Given the description of an element on the screen output the (x, y) to click on. 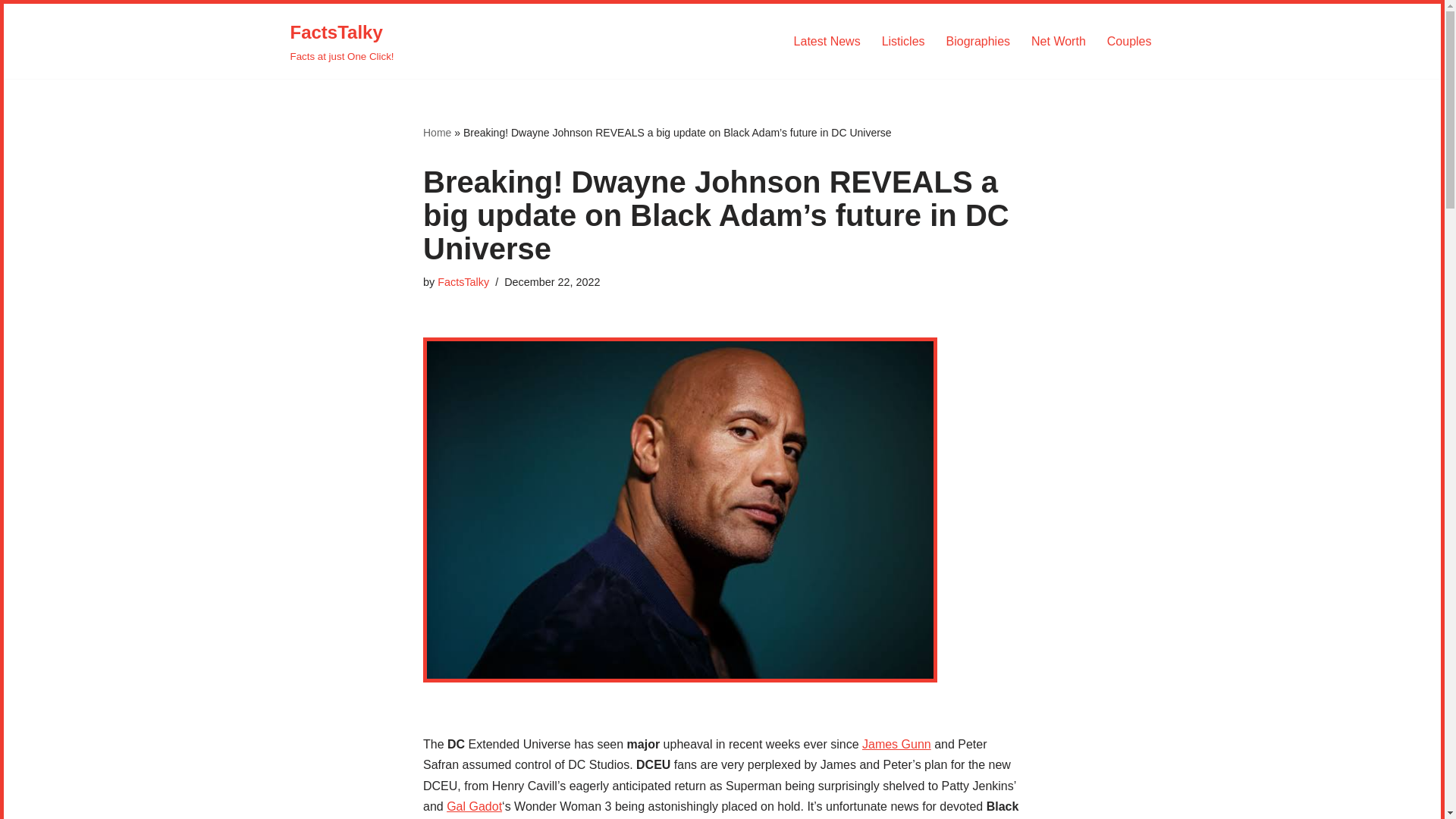
FactsTalky (463, 282)
James Gunn (896, 744)
Listicles (903, 41)
Latest News (826, 41)
Home (437, 132)
Posts by FactsTalky (463, 282)
Skip to content (15, 35)
Gal Gadot (474, 806)
Couples (1128, 41)
Biographies (978, 41)
